Given the description of an element on the screen output the (x, y) to click on. 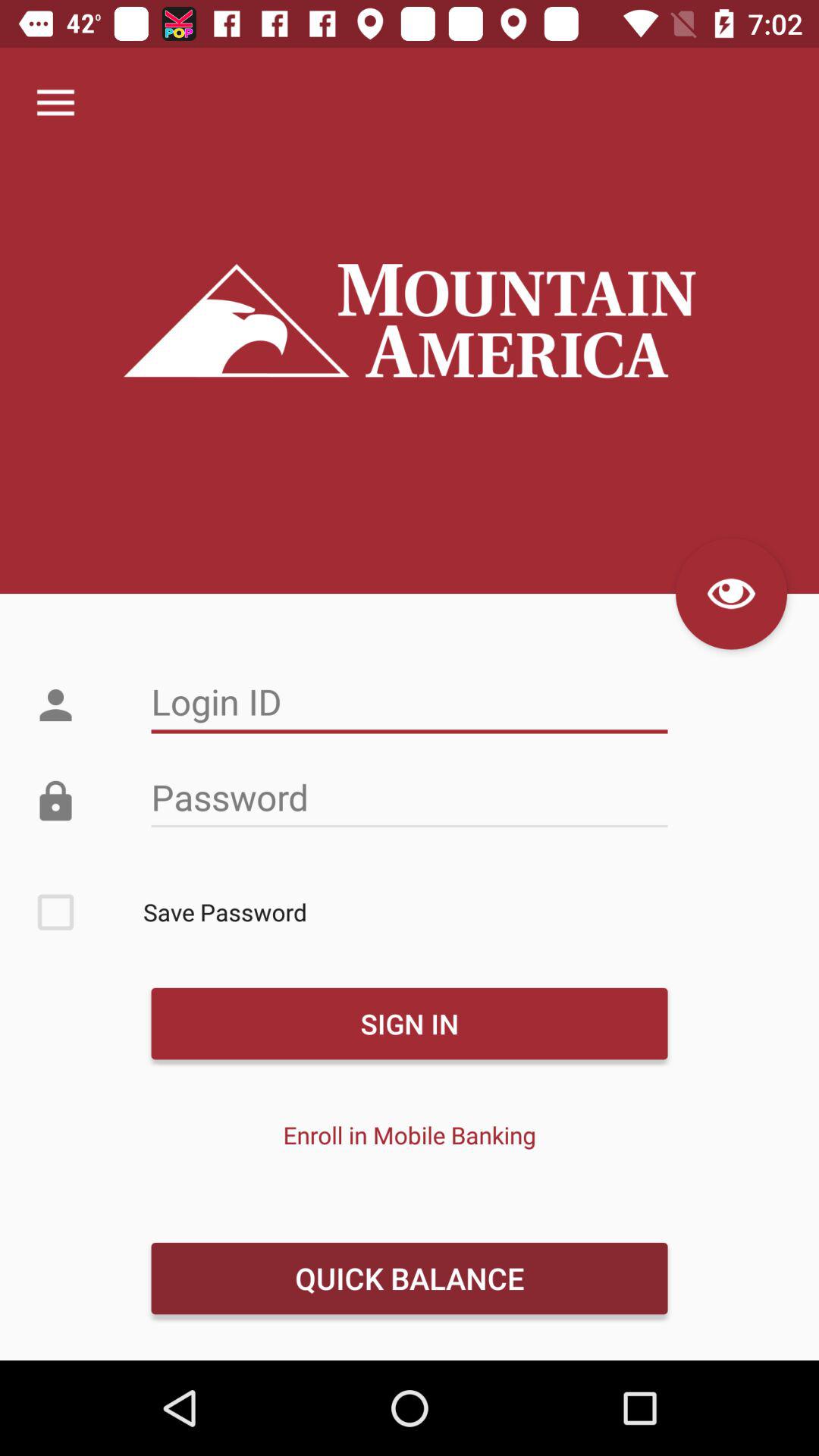
select the item below the enroll in mobile (409, 1278)
